Given the description of an element on the screen output the (x, y) to click on. 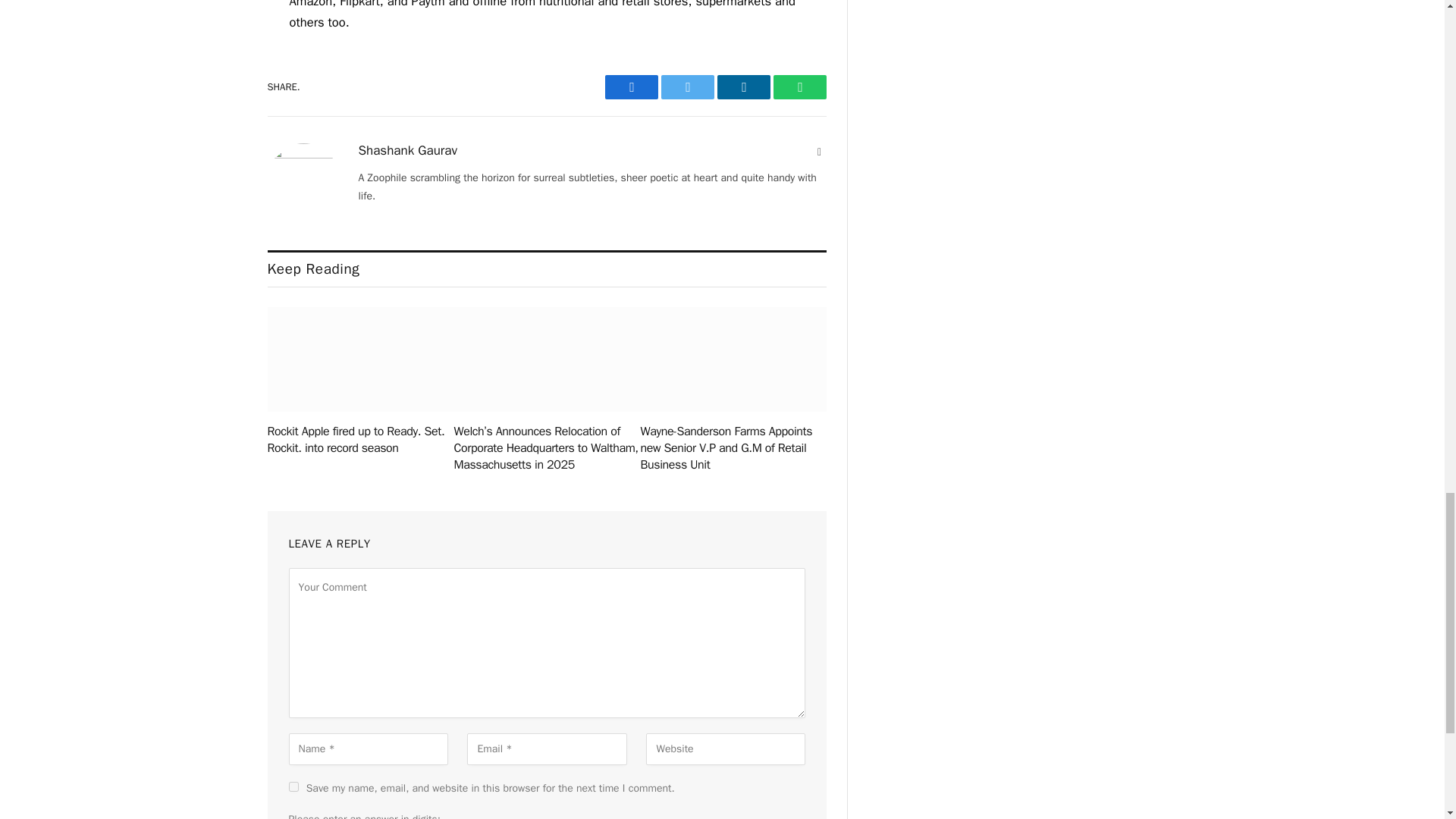
Shashank Gaurav (407, 150)
Share on Facebook (631, 87)
Facebook (631, 87)
Website (818, 151)
Share on LinkedIn (743, 87)
Twitter (687, 87)
Website (818, 151)
Share on WhatsApp (800, 87)
Posts by Shashank Gaurav (407, 150)
yes (293, 786)
LinkedIn (743, 87)
WhatsApp (800, 87)
